Given the description of an element on the screen output the (x, y) to click on. 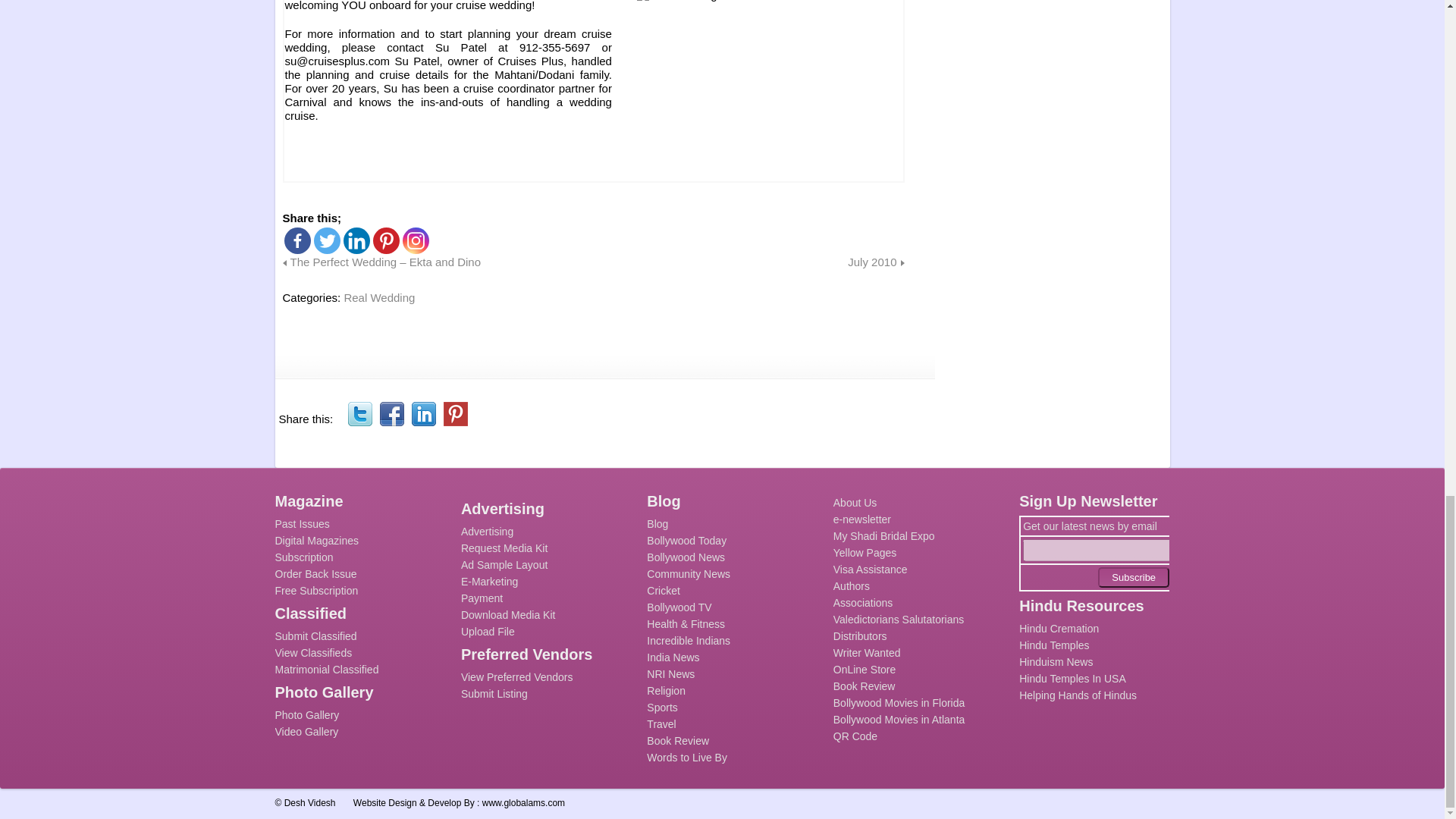
Instagram (414, 240)
Facebook (392, 413)
Real Wedding (378, 297)
Facebook (296, 240)
Linkedin (355, 240)
July 2010 (875, 261)
LinkedIn (423, 413)
Pinterest (385, 240)
Twitter (327, 240)
Pinterest (455, 413)
